Given the description of an element on the screen output the (x, y) to click on. 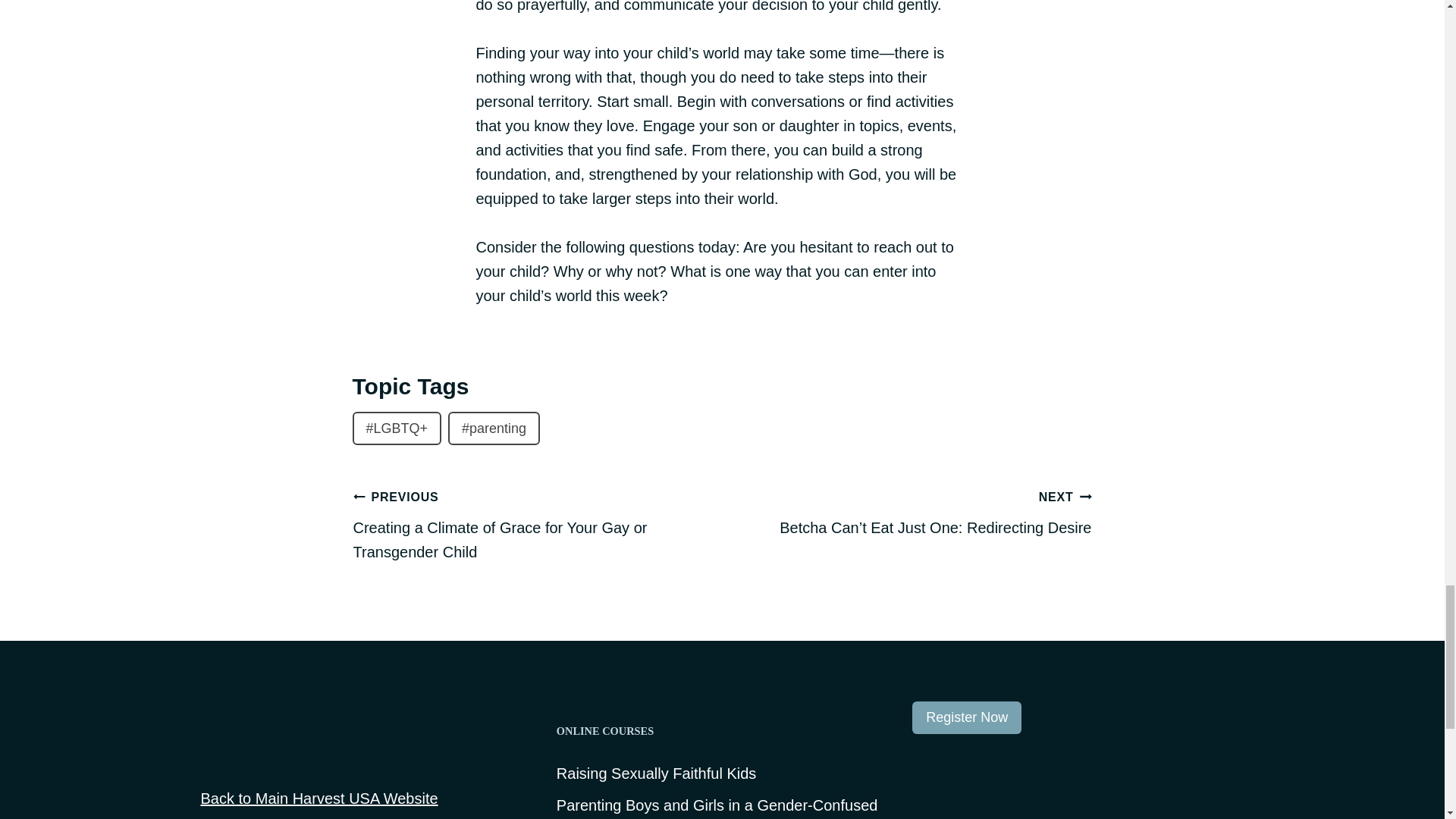
Back to Main Harvest USA Website (319, 798)
Parenting Boys and Girls in a Gender-Confused World (722, 806)
ONLINE COURSES (722, 731)
Visit the main Harvest USA Website (276, 740)
Register Now (967, 717)
parenting (494, 427)
Raising Sexually Faithful Kids (655, 773)
